Given the description of an element on the screen output the (x, y) to click on. 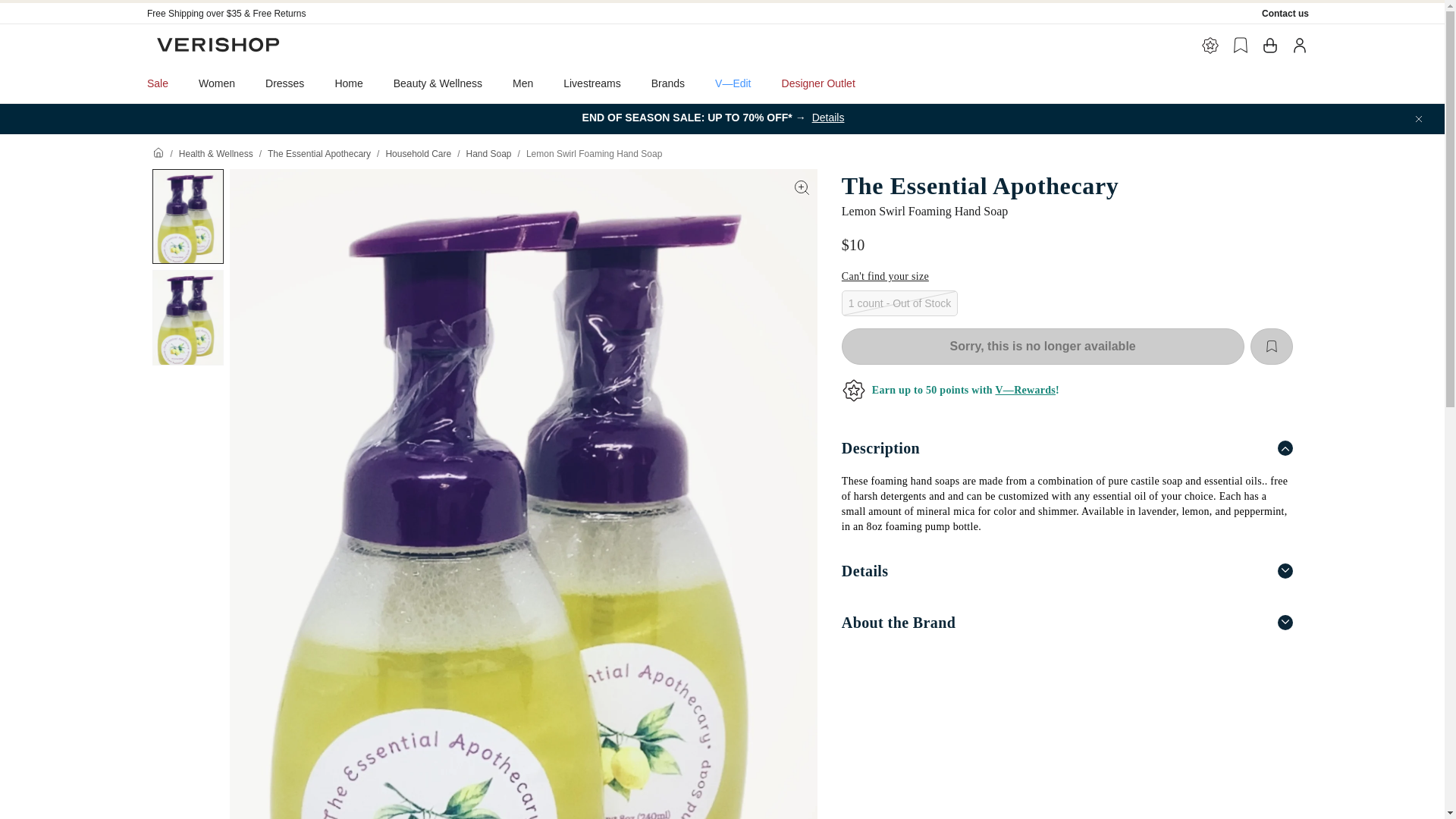
skip to main content (53, 6)
Designer Outlet (818, 82)
Description (1066, 448)
Free Returns (278, 13)
Sorry, this is no longer available (1042, 346)
Brands (668, 82)
Contact us (1285, 13)
Dresses (284, 82)
Details (1066, 571)
The Essential Apothecary (1066, 185)
Livestreams (591, 82)
Hand Soap (488, 153)
The Essential Apothecary (319, 153)
Household Care (418, 153)
Can't find your size (884, 276)
